Given the description of an element on the screen output the (x, y) to click on. 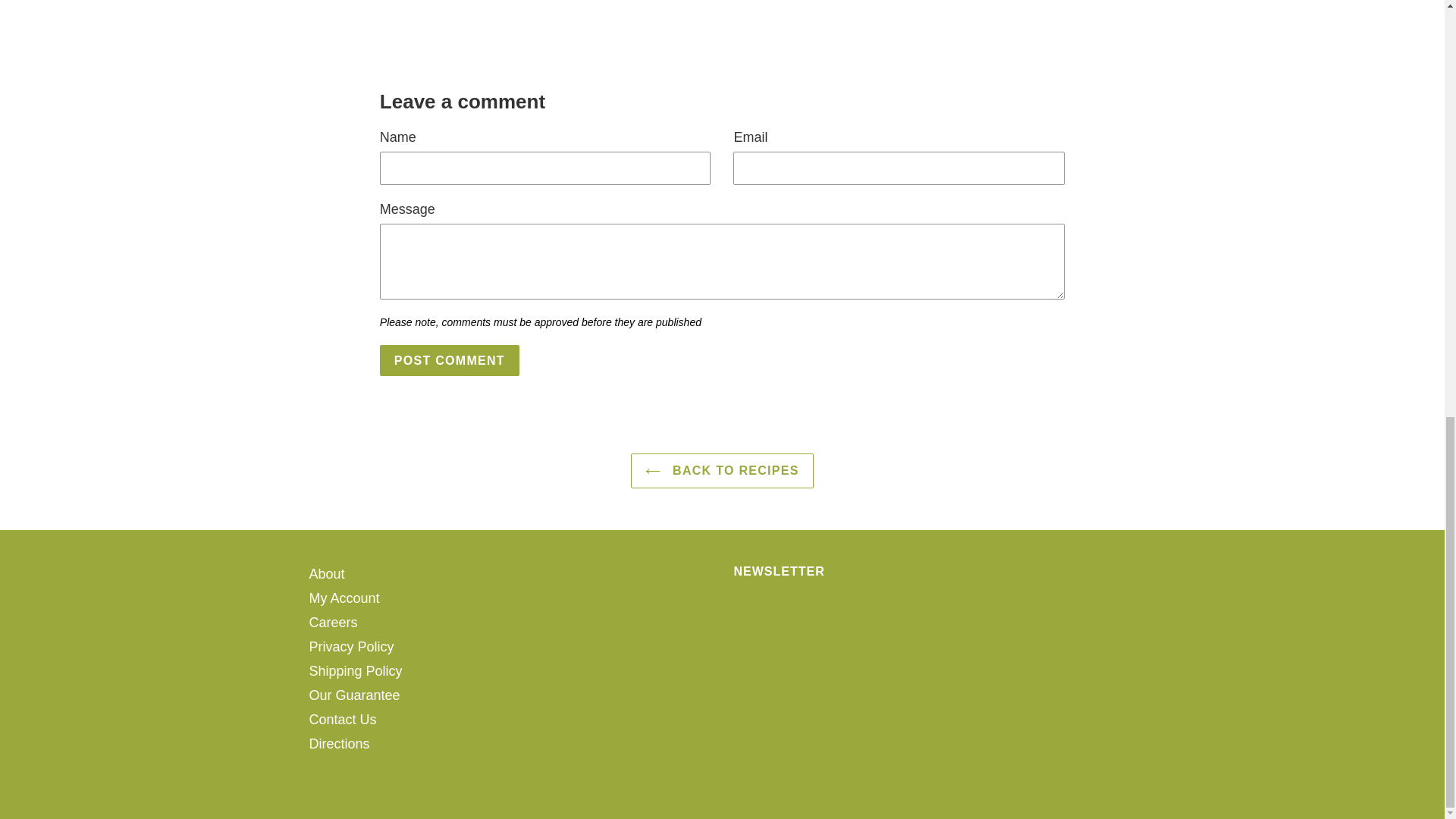
Post comment (449, 359)
